Given the description of an element on the screen output the (x, y) to click on. 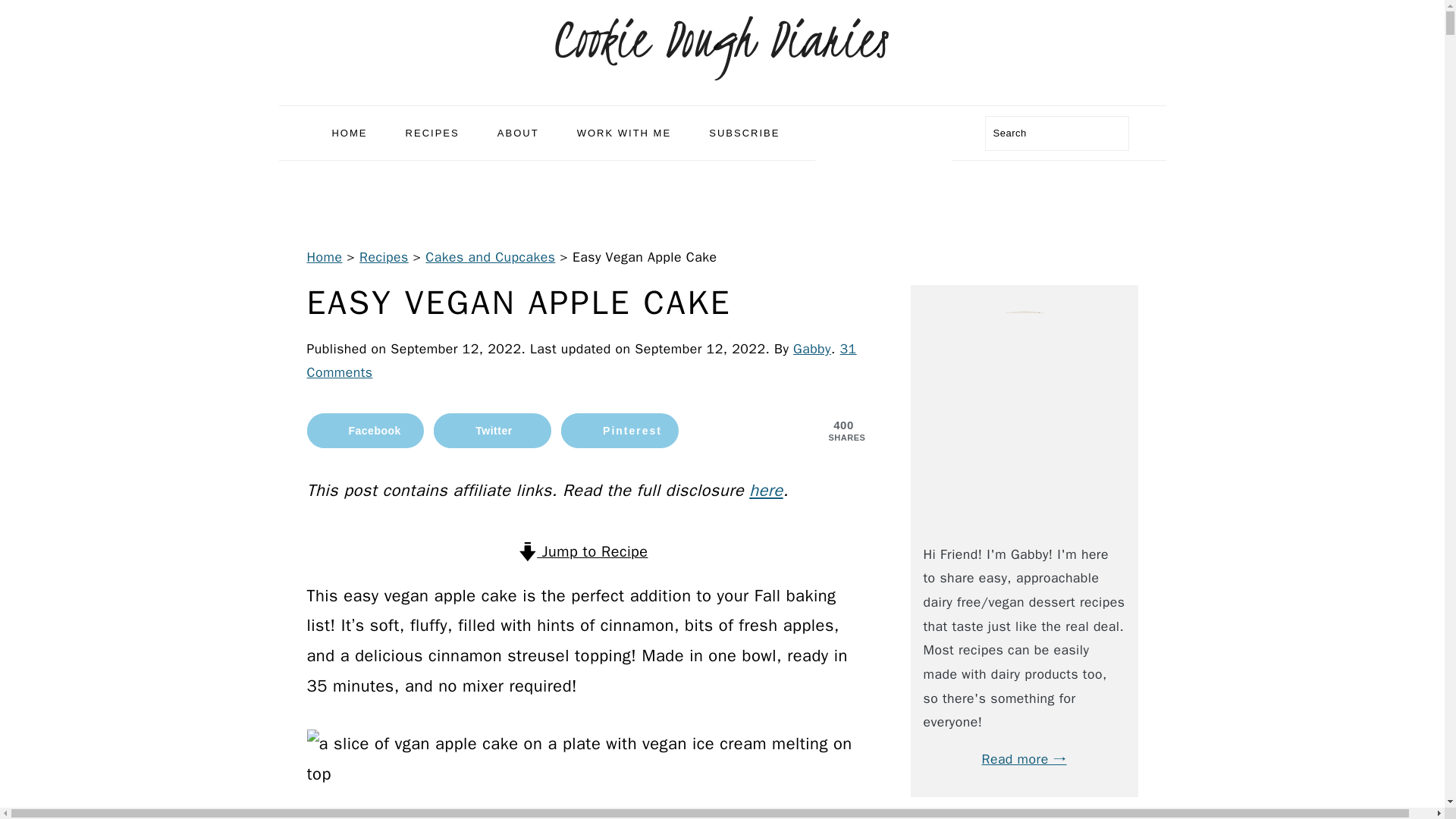
ABOUT (517, 132)
Share on X (492, 430)
Share on Facebook (364, 430)
Cookie Dough Diaries (722, 40)
RECIPES (433, 132)
Save to Pinterest (619, 430)
WORK WITH ME (623, 132)
HOME (348, 132)
SUBSCRIBE (743, 132)
Cookie Dough Diaries (722, 88)
